Given the description of an element on the screen output the (x, y) to click on. 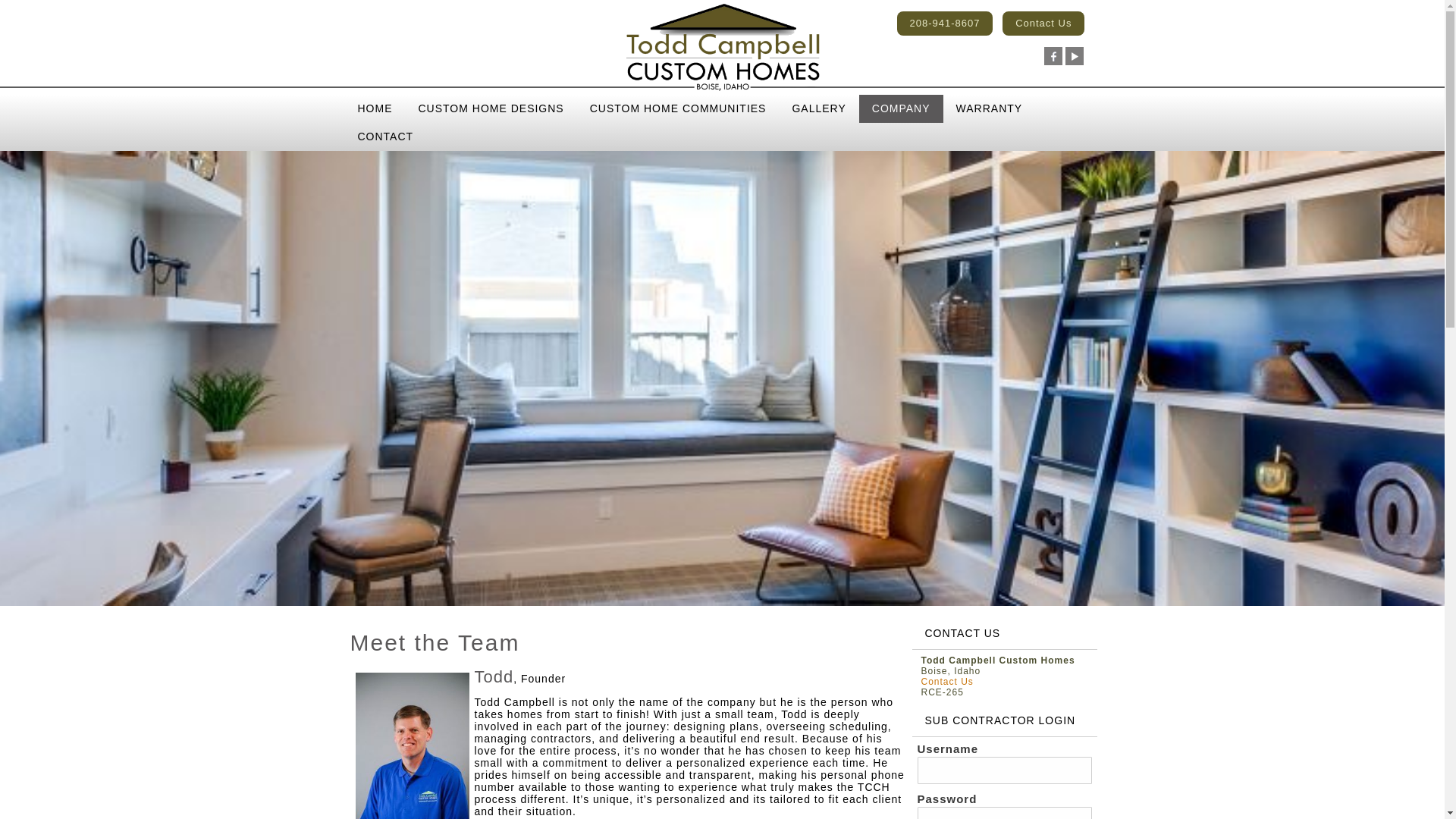
Custom Home Designs (490, 108)
Gallery (818, 108)
CUSTOM HOME DESIGNS (490, 108)
Contact Us (1043, 23)
Custom Home Communities (677, 108)
GALLERY (818, 108)
Home (373, 108)
CUSTOM HOME COMMUNITIES (677, 108)
HOME (373, 108)
208-941-8607 (944, 23)
